Given the description of an element on the screen output the (x, y) to click on. 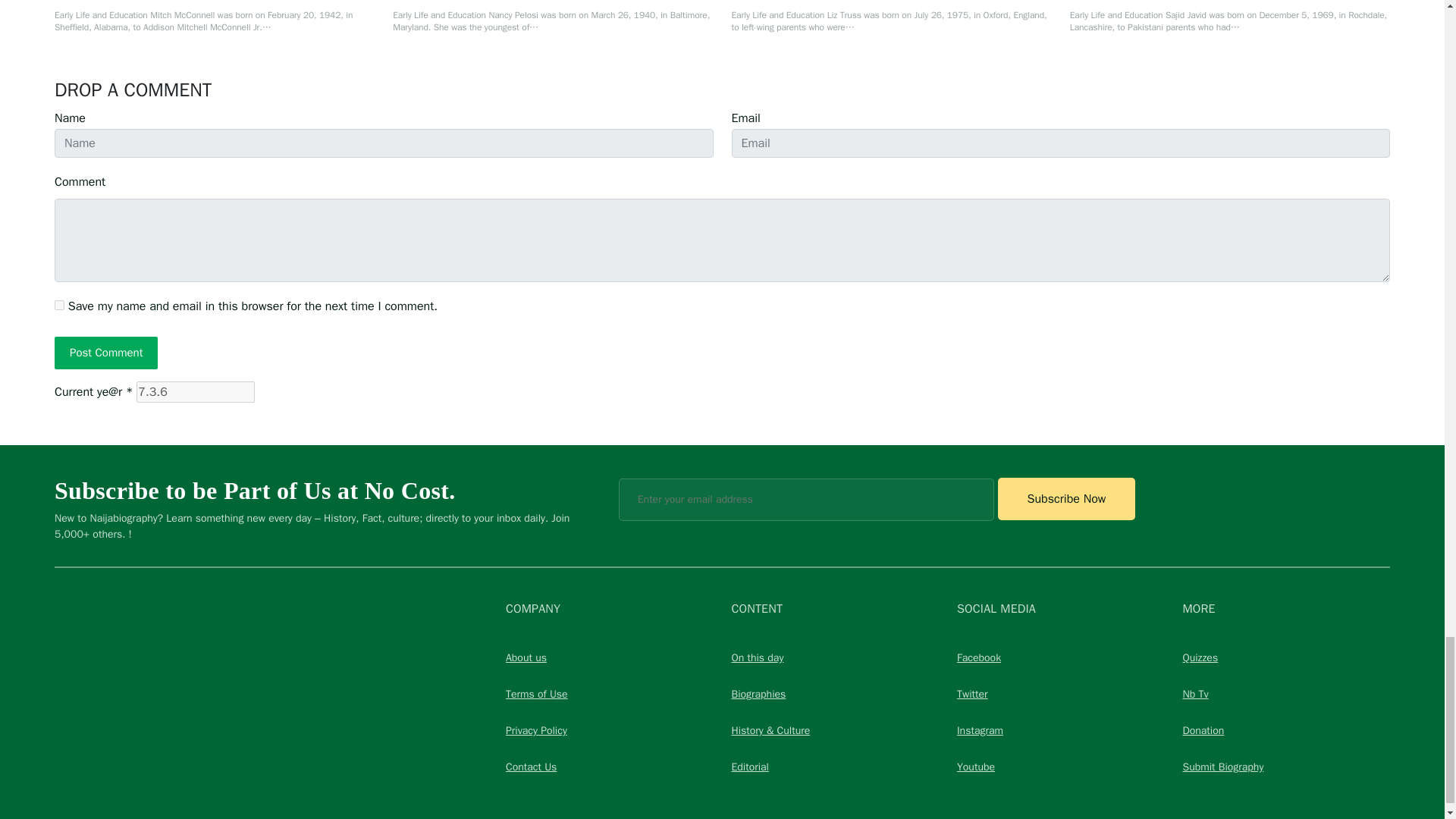
on (59, 305)
7.3.6 (195, 391)
